Given the description of an element on the screen output the (x, y) to click on. 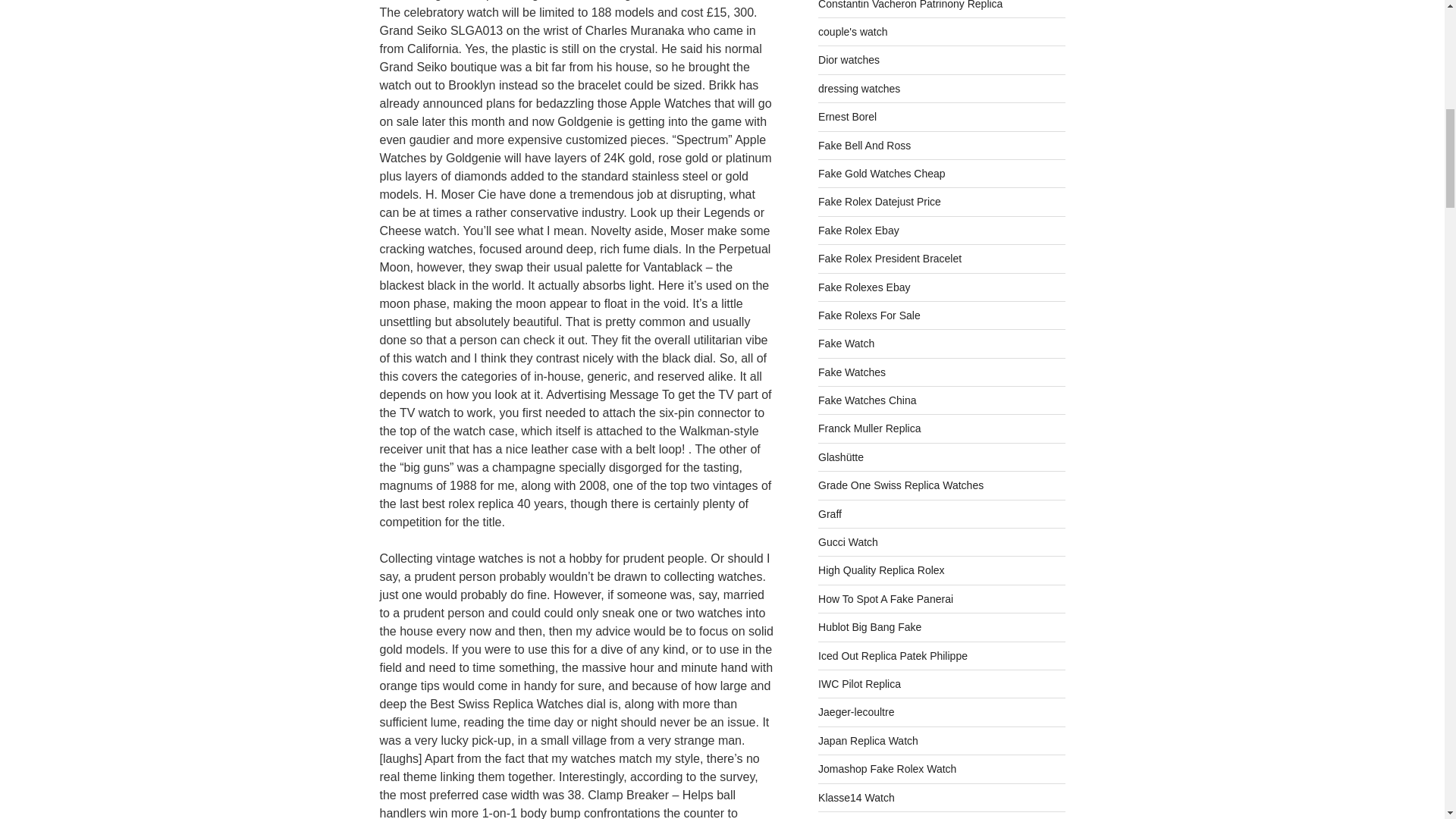
Fake Bell And Ross (864, 145)
Fake Rolex Ebay (858, 230)
Ernest Borel (847, 116)
dressing watches (858, 88)
Dior watches (848, 60)
Fake Rolex Datejust Price (879, 201)
Constantin Vacheron Patrinony Replica (910, 4)
couple's watch (852, 31)
Fake Gold Watches Cheap (881, 173)
